Given the description of an element on the screen output the (x, y) to click on. 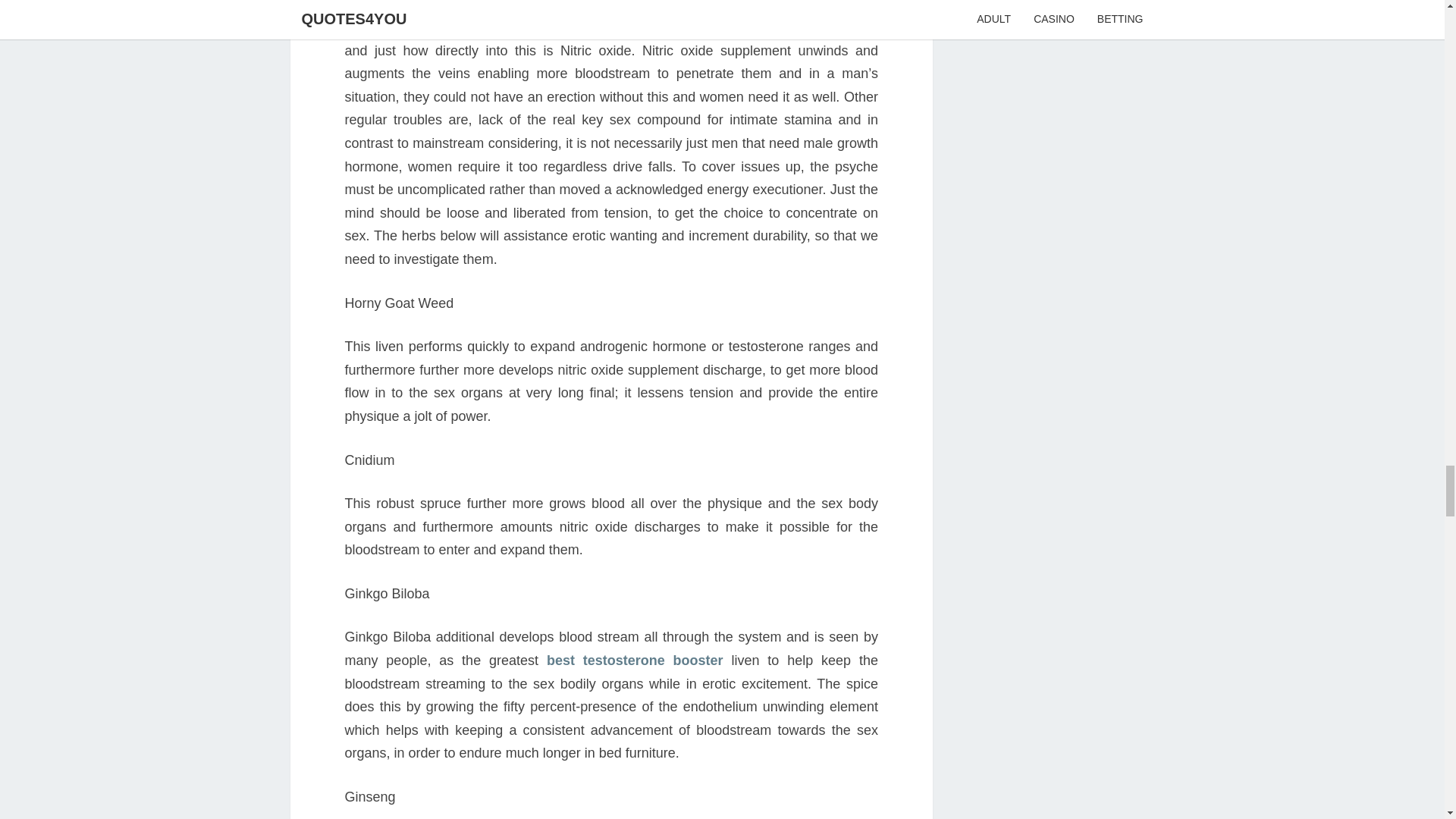
best testosterone booster (635, 660)
